Given the description of an element on the screen output the (x, y) to click on. 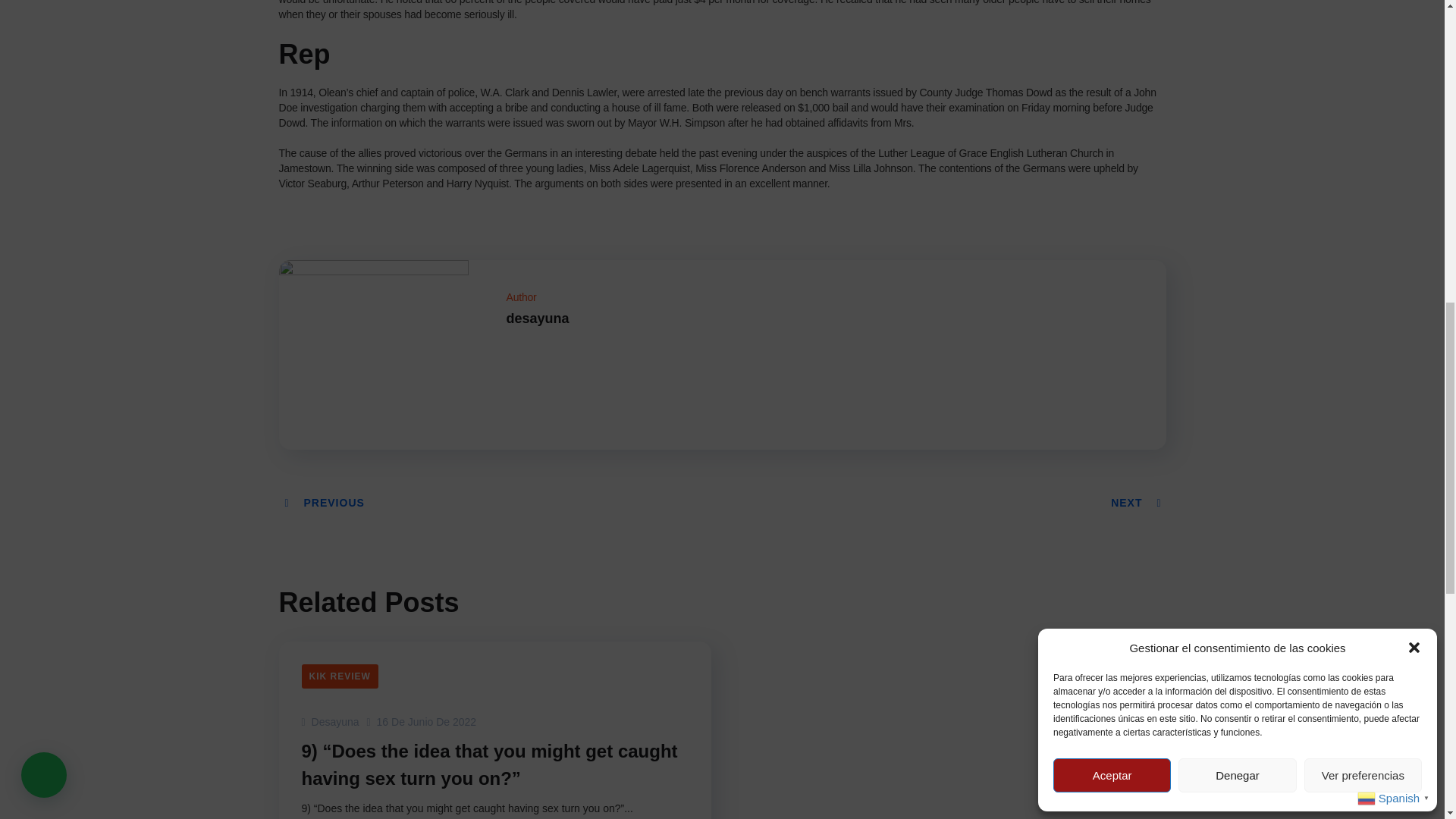
PREVIOUS (323, 502)
KIK REVIEW (339, 676)
16 De Junio De 2022 (421, 721)
NEXT (1138, 502)
Desayuna (330, 721)
